Given the description of an element on the screen output the (x, y) to click on. 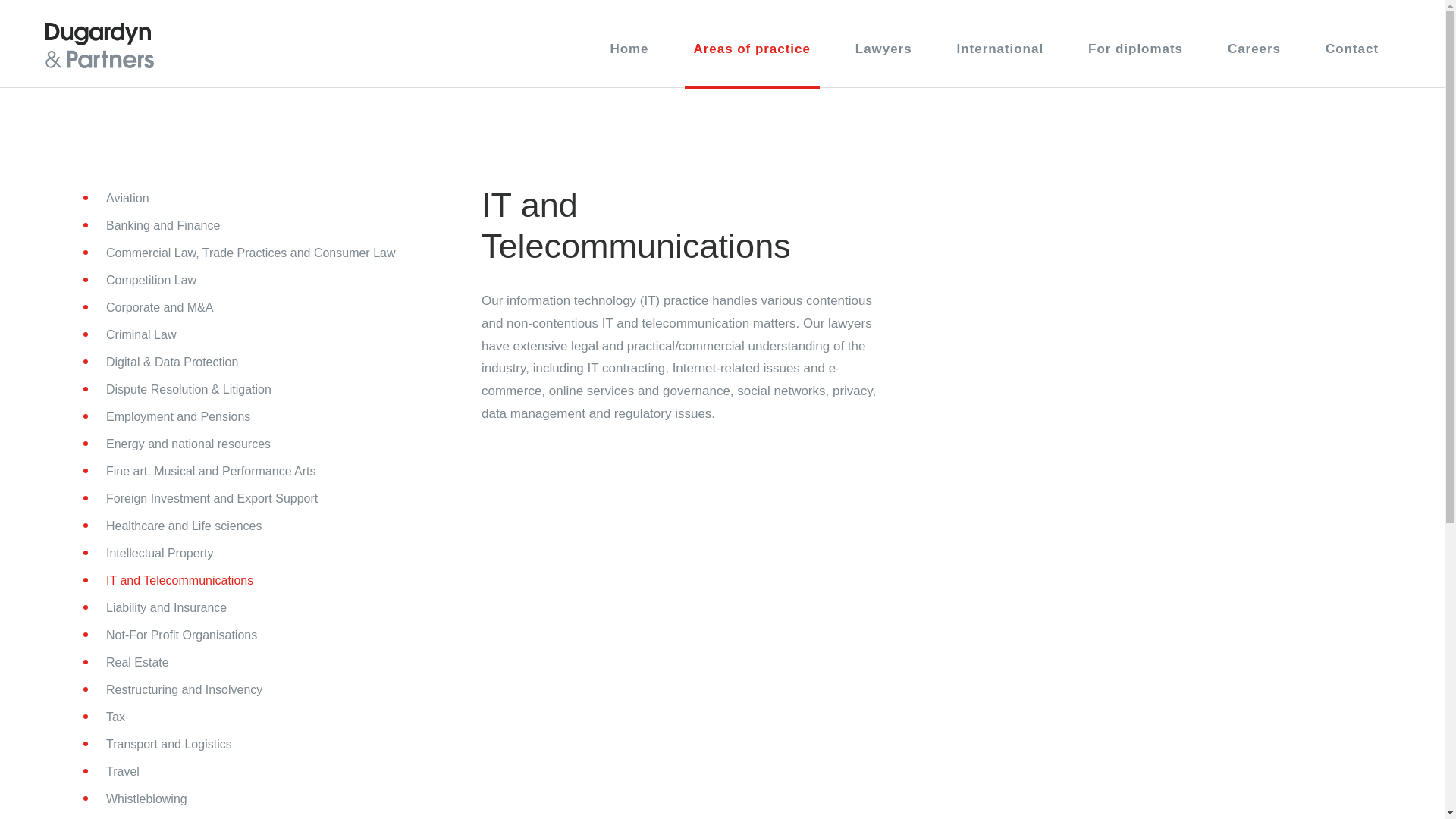
Aviation Element type: text (117, 198)
Dugardyn & Partners Element type: hover (99, 45)
Home Element type: text (628, 54)
Banking and Finance Element type: text (152, 225)
Healthcare and Life sciences Element type: text (173, 525)
For diplomats Element type: text (1135, 54)
Competition Law Element type: text (141, 280)
Areas of practice Element type: text (751, 55)
Not-For Profit Organisations Element type: text (171, 635)
Fine art, Musical and Performance Arts Element type: text (201, 471)
Corporate and M&A Element type: text (149, 307)
Energy and national resources Element type: text (178, 444)
Skip to main content Element type: text (0, 0)
Employment and Pensions Element type: text (168, 416)
Transport and Logistics Element type: text (159, 744)
Travel Element type: text (112, 771)
Intellectual Property Element type: text (149, 553)
Liability and Insurance Element type: text (156, 607)
Foreign Investment and Export Support Element type: text (201, 498)
Contact Element type: text (1351, 54)
Real Estate Element type: text (127, 662)
Dispute Resolution & Litigation Element type: text (178, 389)
International Element type: text (1000, 54)
Careers Element type: text (1253, 54)
Digital & Data Protection Element type: text (162, 362)
Lawyers Element type: text (883, 54)
Tax Element type: text (105, 717)
IT and Telecommunications Element type: text (169, 580)
Whistleblowing Element type: text (136, 798)
Restructuring and Insolvency Element type: text (174, 689)
Commercial Law, Trade Practices and Consumer Law Element type: text (240, 252)
Criminal Law Element type: text (130, 334)
